Given the description of an element on the screen output the (x, y) to click on. 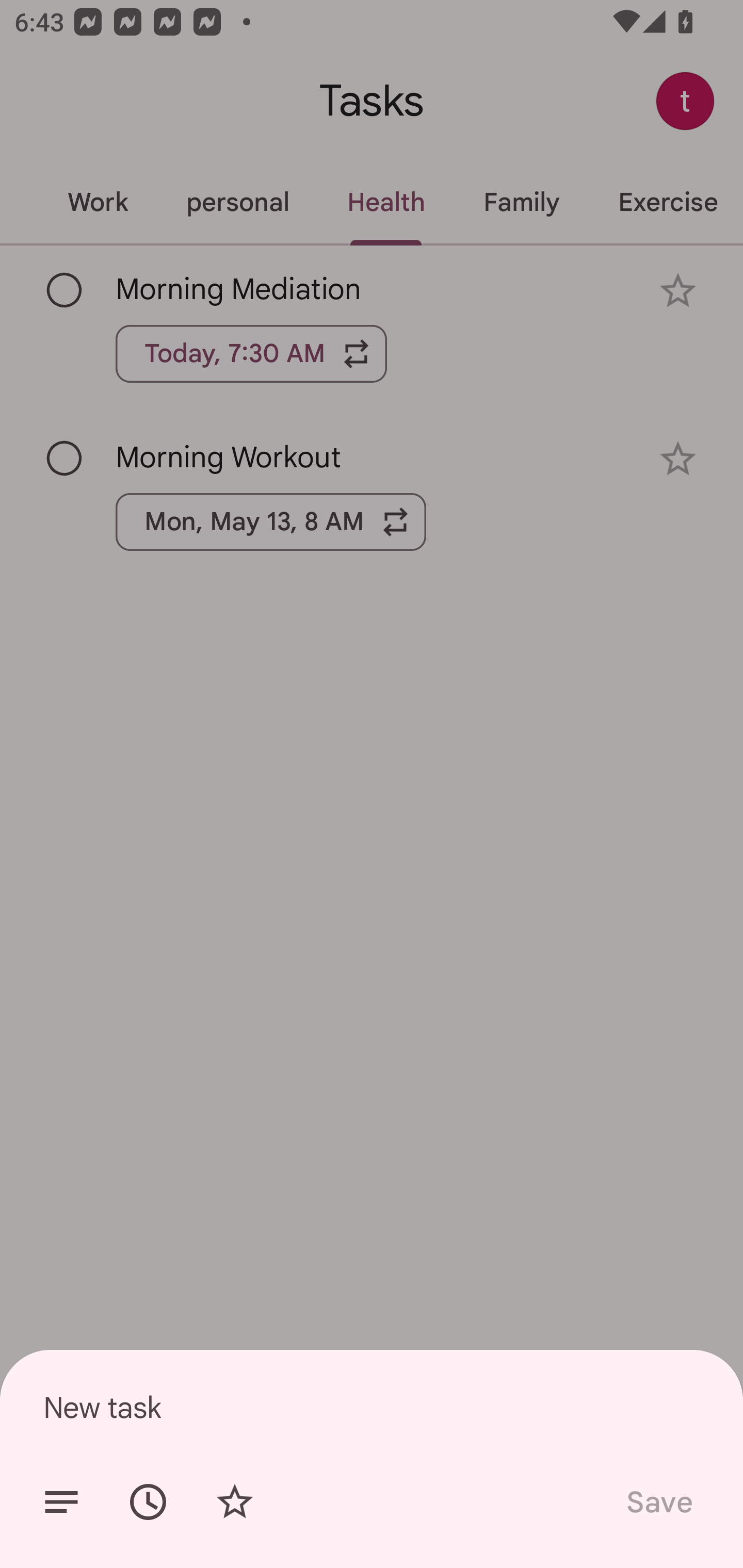
New task (371, 1407)
Save (659, 1501)
Add details (60, 1501)
Set date/time (147, 1501)
Add star (234, 1501)
